Given the description of an element on the screen output the (x, y) to click on. 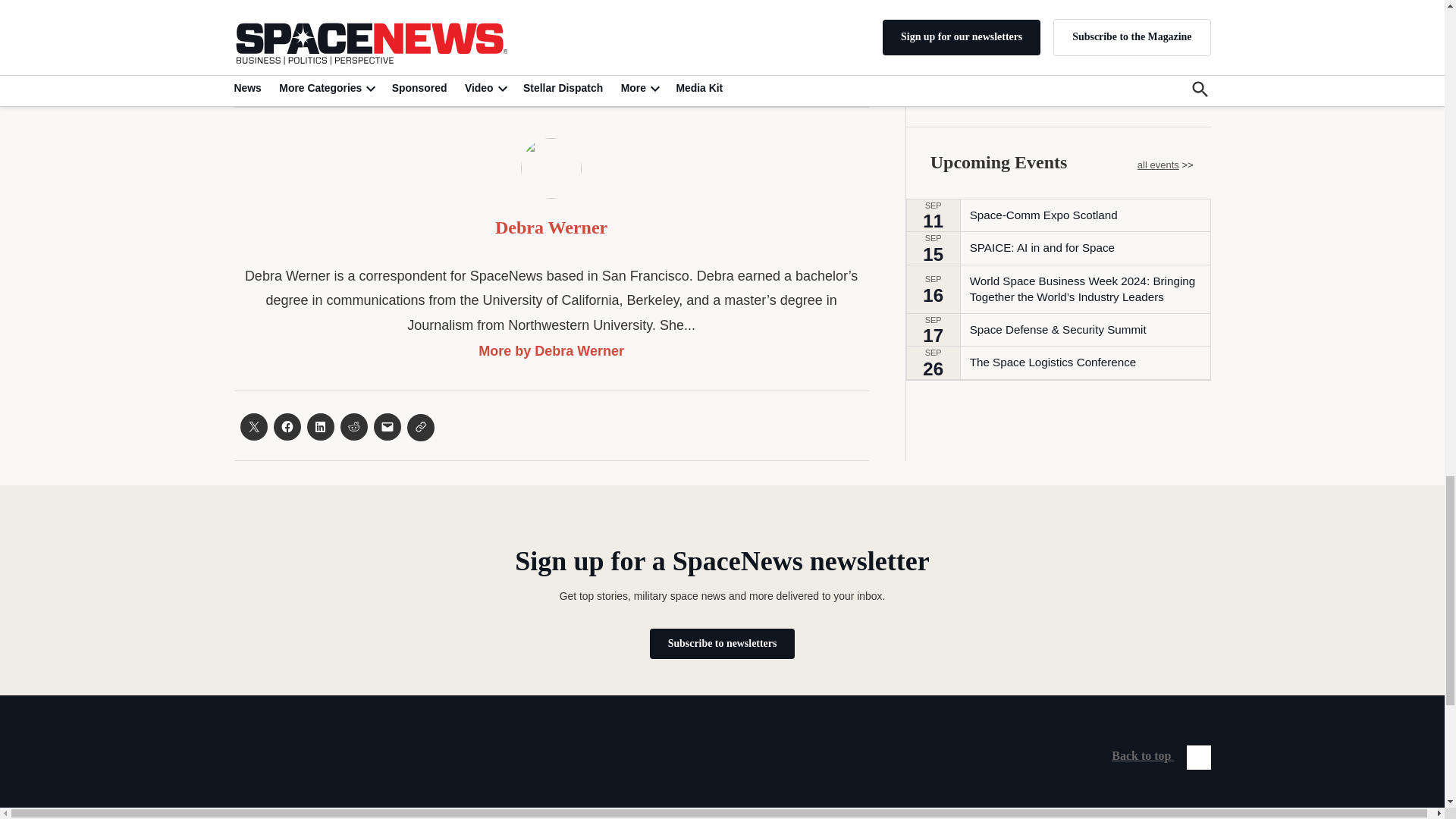
Click to share on LinkedIn (319, 426)
Click to share on Facebook (286, 426)
Click to share on Clipboard (419, 427)
Click to share on X (253, 426)
Click to email a link to a friend (386, 426)
Click to share on Reddit (352, 426)
